Given the description of an element on the screen output the (x, y) to click on. 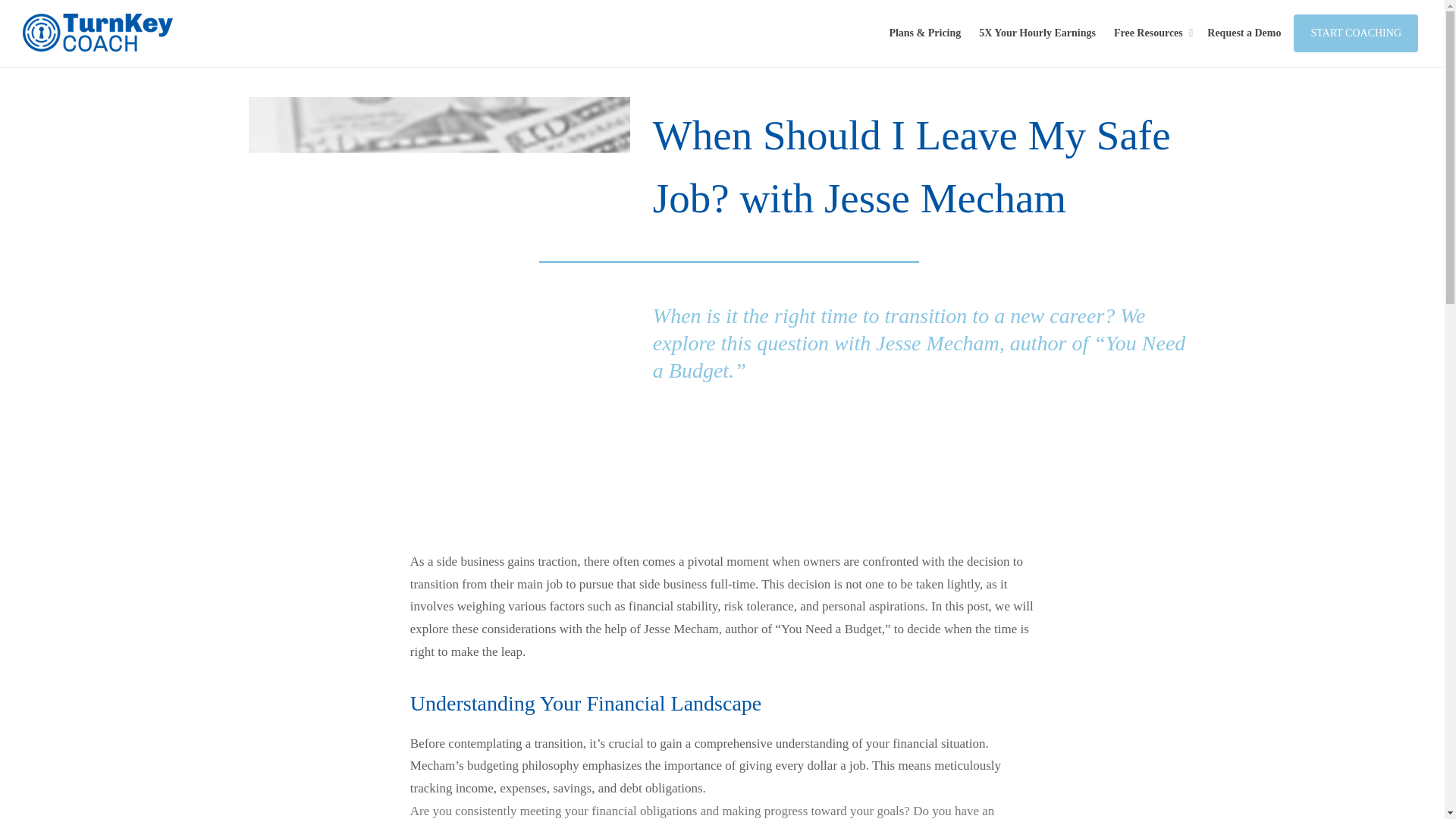
5X Your Hourly Earnings (1037, 33)
START COACHING (1356, 33)
Request a Demo (1244, 33)
Request a Demo (1244, 33)
Libsyn Player (924, 435)
TurnKey Coach (98, 32)
Free Resources (1151, 33)
5X Your Hourly Earnings (1037, 33)
START COACHING (1356, 33)
Free Resources (1151, 33)
